Given the description of an element on the screen output the (x, y) to click on. 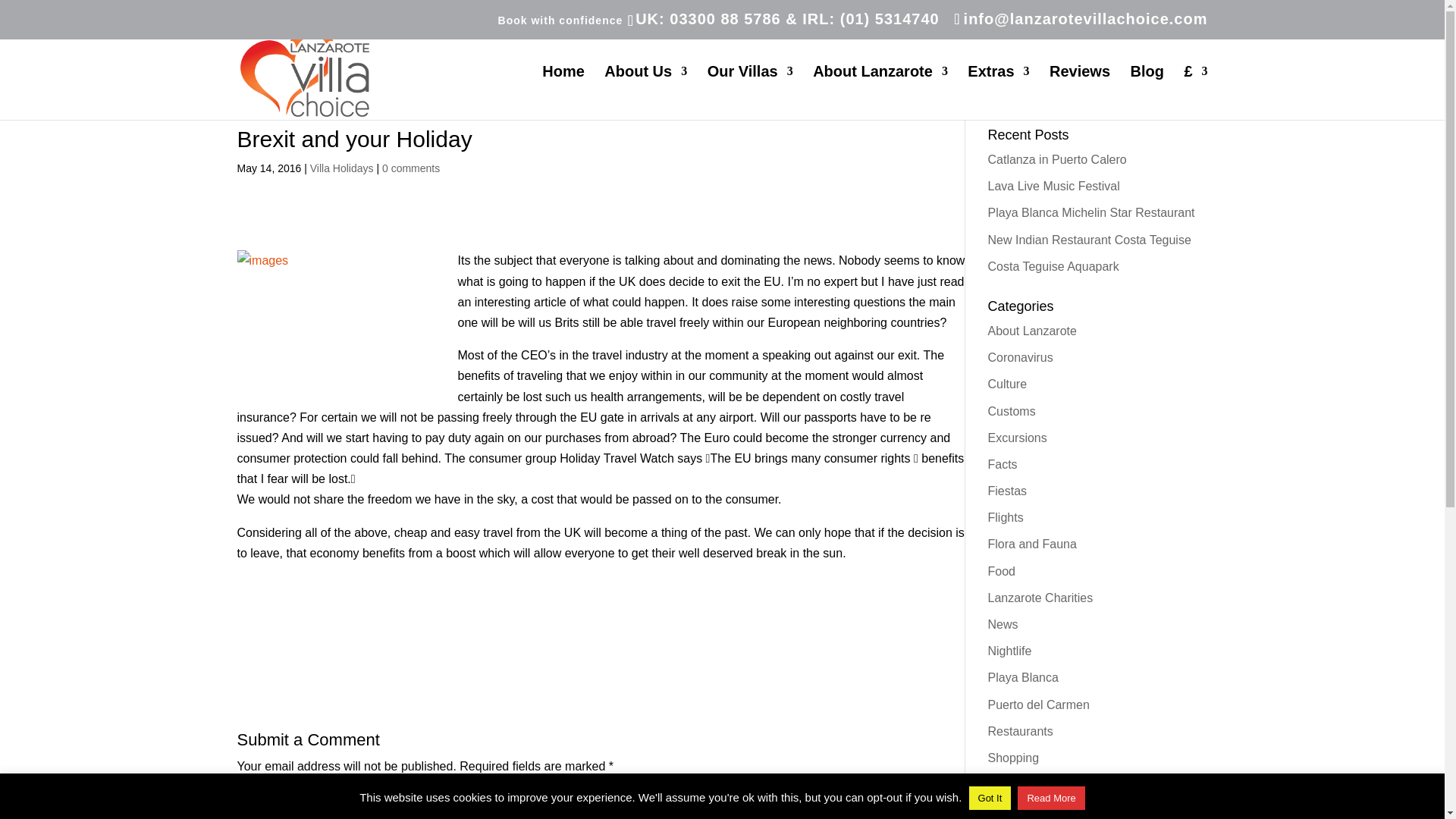
About Lanzarote (879, 92)
Extras (998, 92)
About Us (645, 92)
Reviews (1079, 92)
Our Villas (750, 92)
